Given the description of an element on the screen output the (x, y) to click on. 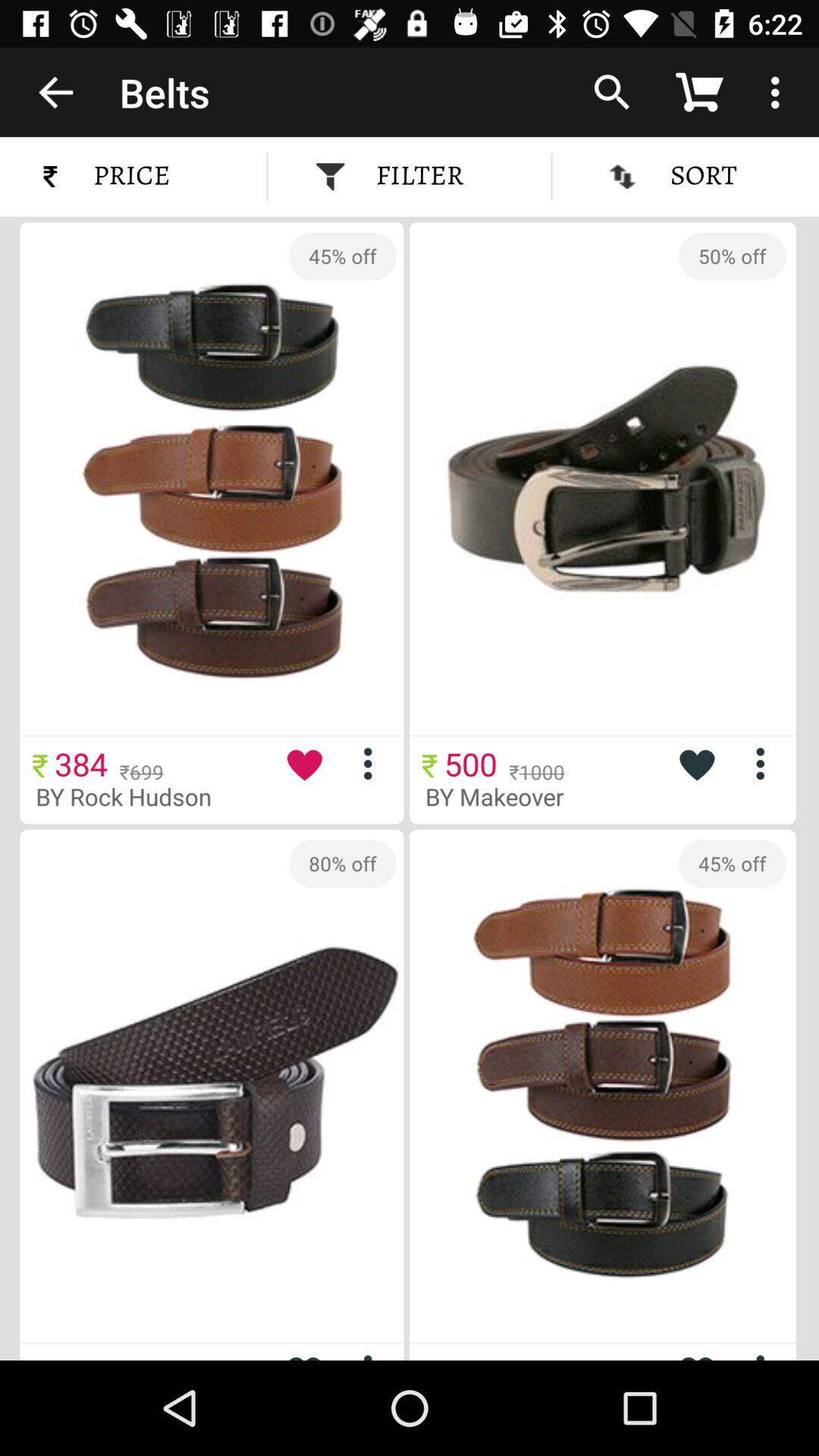
turn on icon above price icon (55, 92)
